Given the description of an element on the screen output the (x, y) to click on. 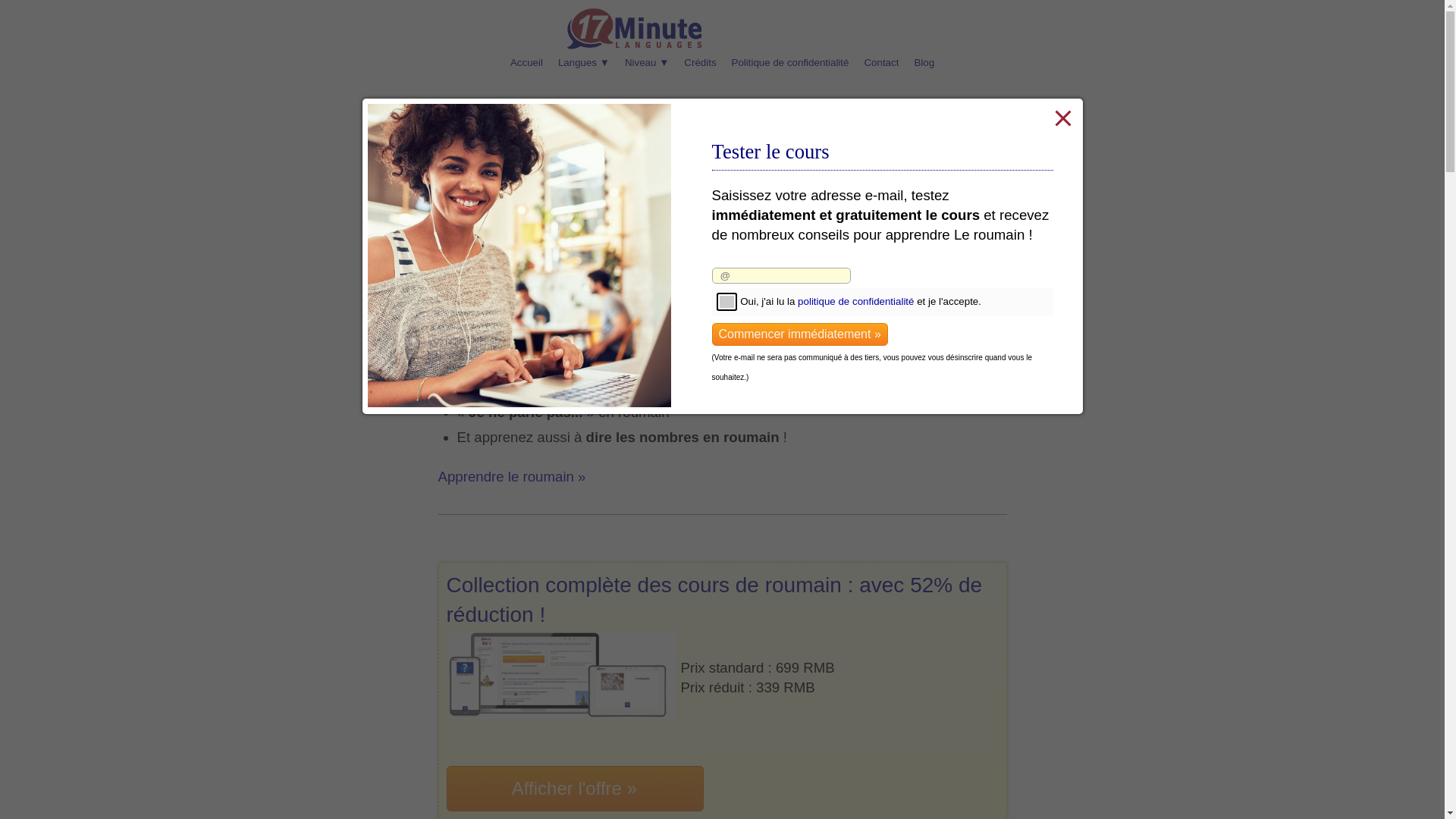
Langues Element type: text (583, 63)
Blog Element type: text (923, 63)
Accueil Element type: text (526, 63)
Contact Element type: text (881, 63)
Niveau Element type: text (646, 63)
